Given the description of an element on the screen output the (x, y) to click on. 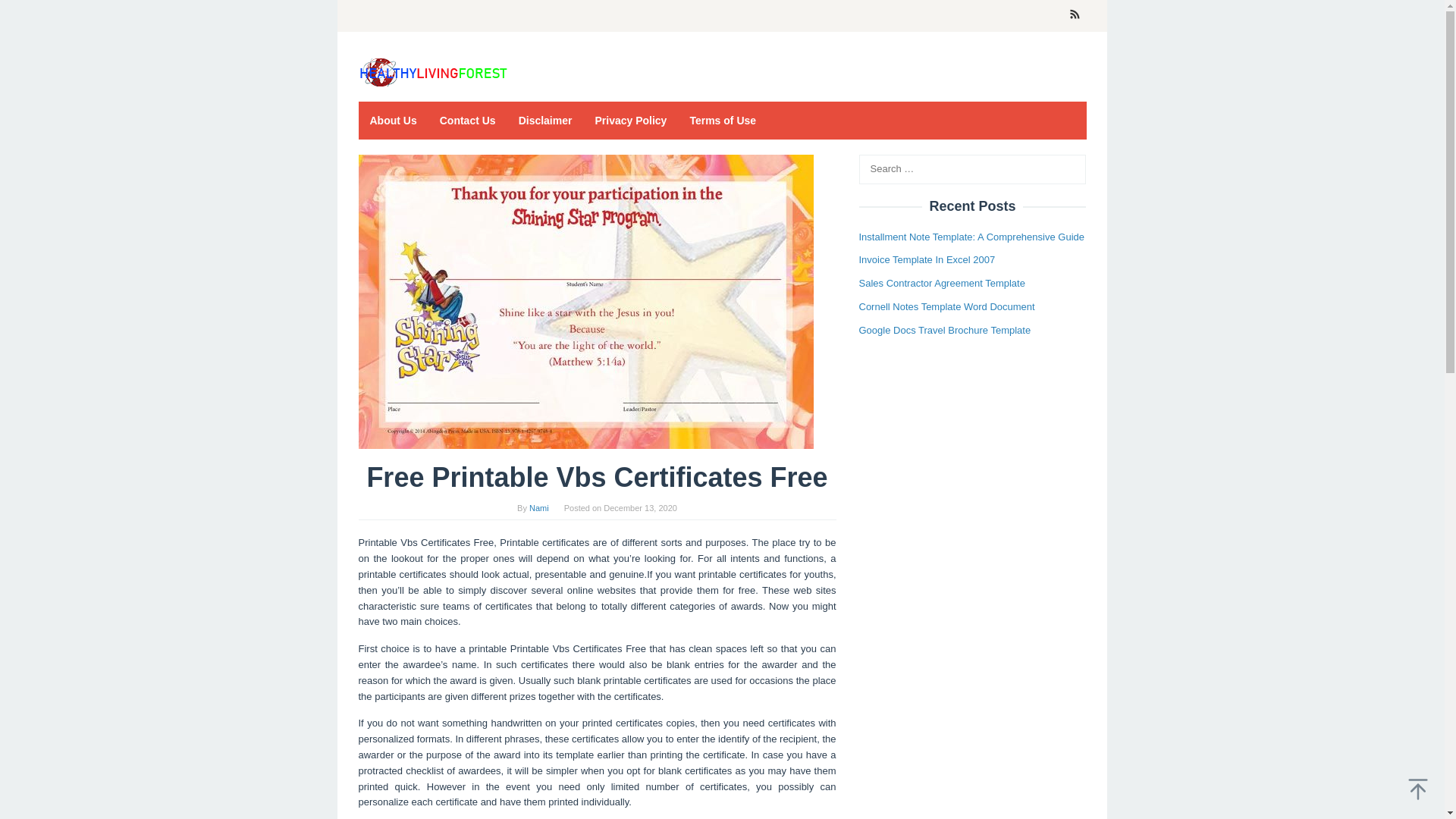
Nami (538, 507)
Installment Note Template: A Comprehensive Guide (971, 236)
Permalink to: Nami (538, 507)
Sales Contractor Agreement Template (942, 283)
Professional Template Ideas (433, 71)
Professional Template Ideas (433, 72)
Disclaimer (544, 120)
Privacy Policy (630, 120)
Search (26, 14)
Invoice Template In Excel 2007 (926, 259)
